Given the description of an element on the screen output the (x, y) to click on. 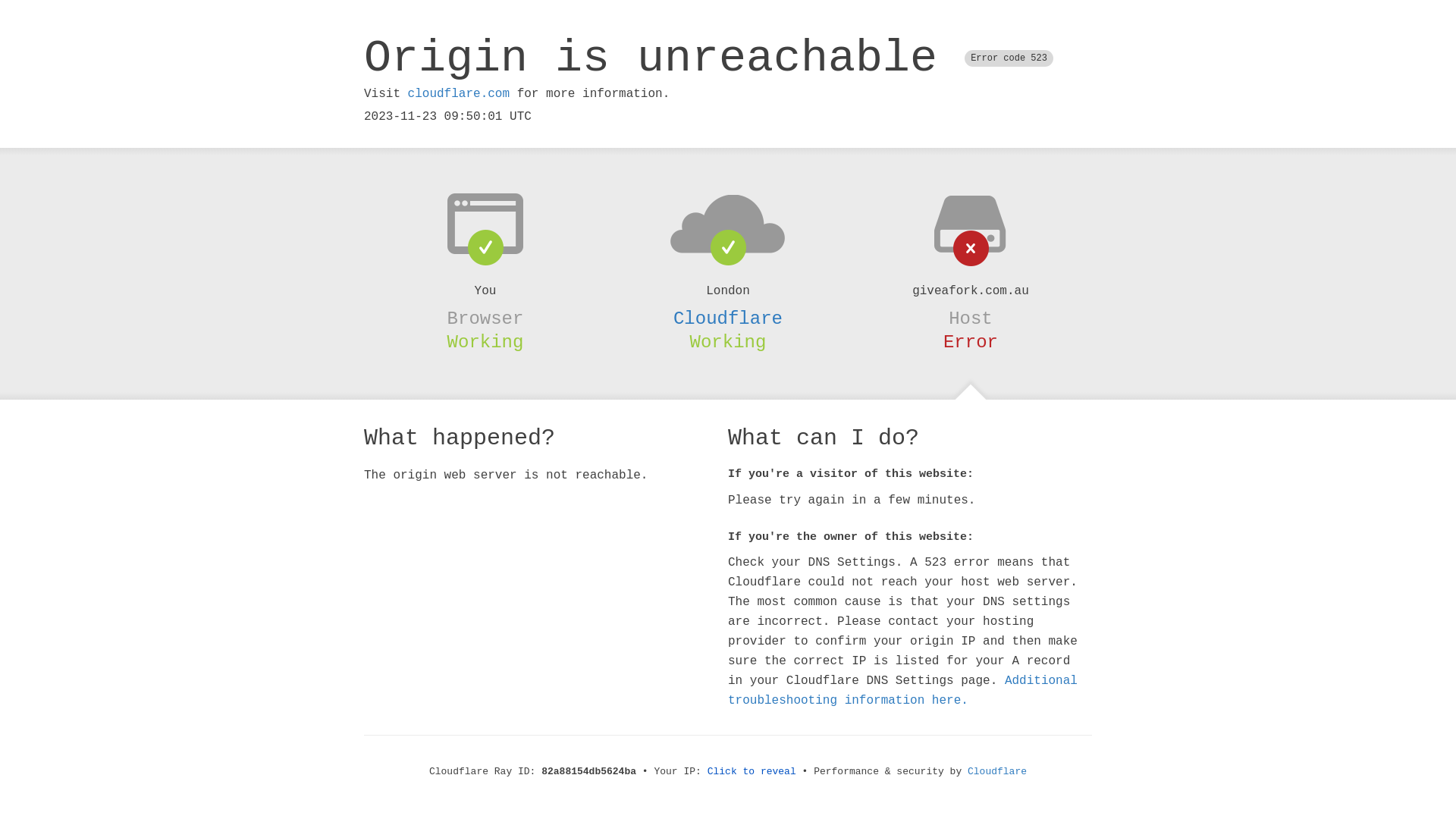
Additional troubleshooting information here. Element type: text (902, 690)
cloudflare.com Element type: text (458, 93)
Click to reveal Element type: text (751, 771)
Cloudflare Element type: text (996, 771)
Cloudflare Element type: text (727, 318)
